Given the description of an element on the screen output the (x, y) to click on. 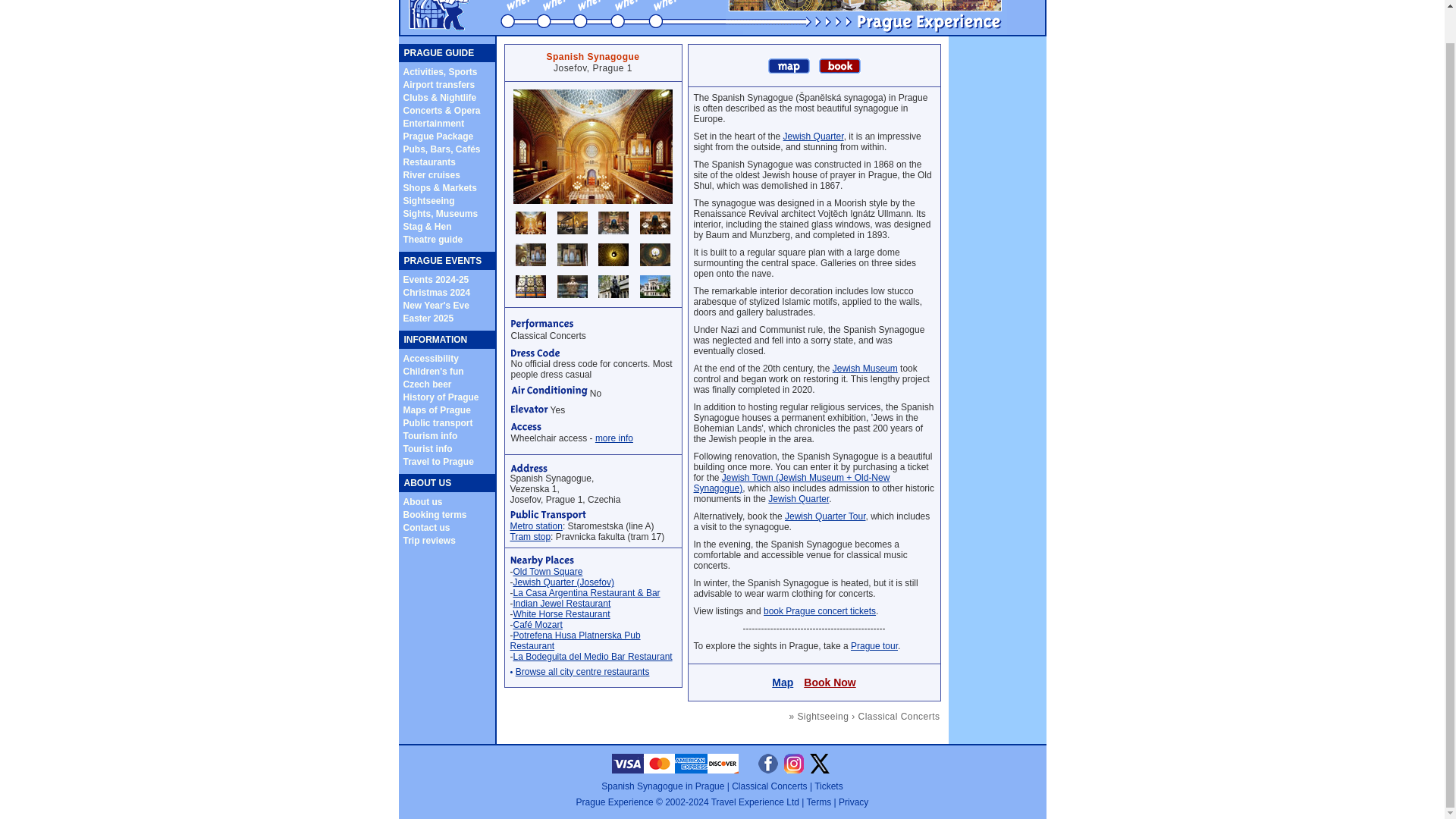
Booking terms (435, 513)
Czech beer (427, 383)
Prague Package (438, 136)
Activities, Sports (440, 71)
Contact us (426, 527)
Trip reviews (429, 539)
Accessibility (430, 357)
Travel to Prague (438, 460)
Theatre guide (433, 239)
Entertainment (433, 122)
Tourism info (430, 434)
Sightseeing (428, 199)
Tourist info (427, 448)
PRAGUE GUIDE (438, 52)
Public transport (438, 422)
